Given the description of an element on the screen output the (x, y) to click on. 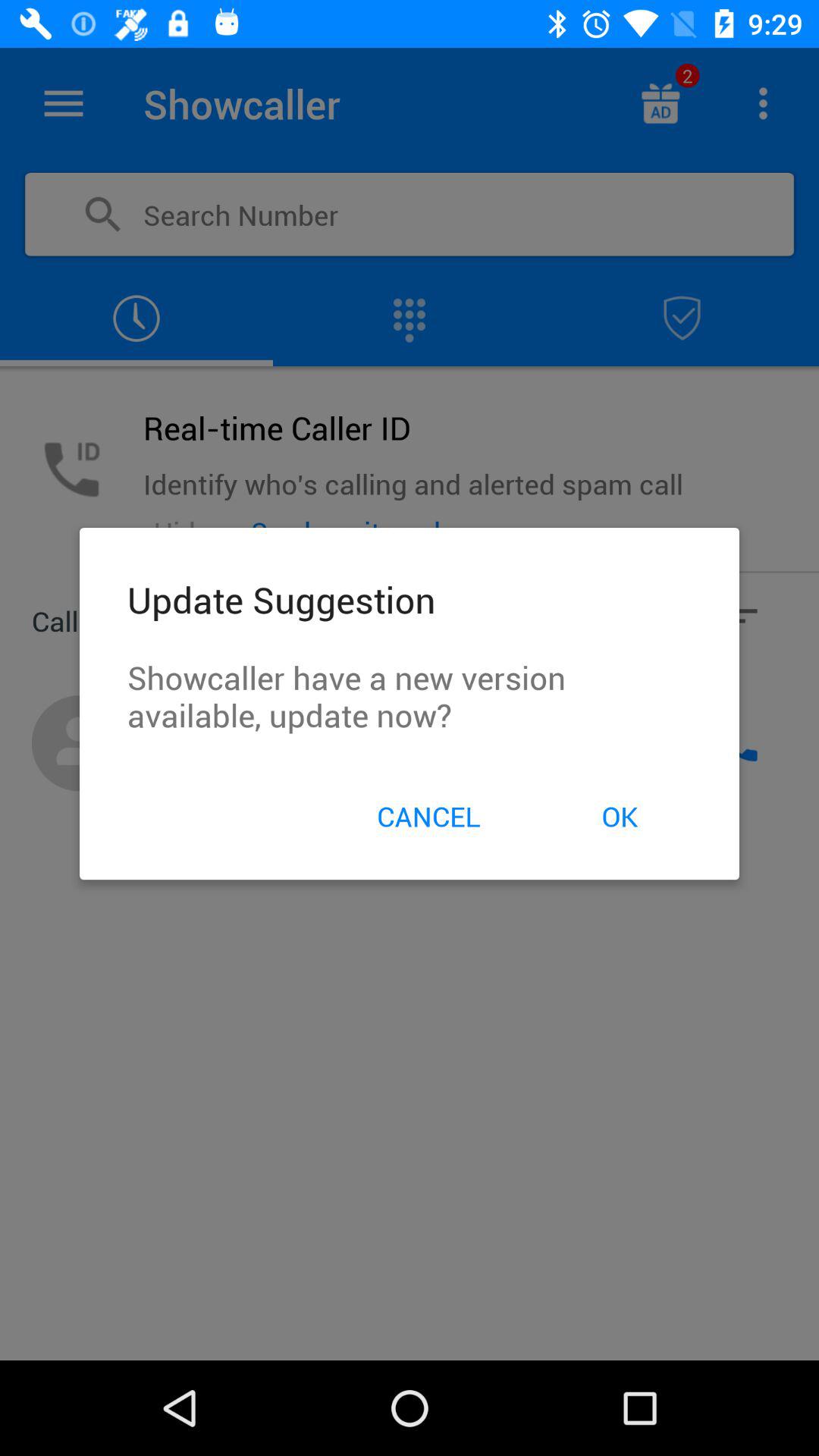
choose item below the showcaller have a item (619, 815)
